Given the description of an element on the screen output the (x, y) to click on. 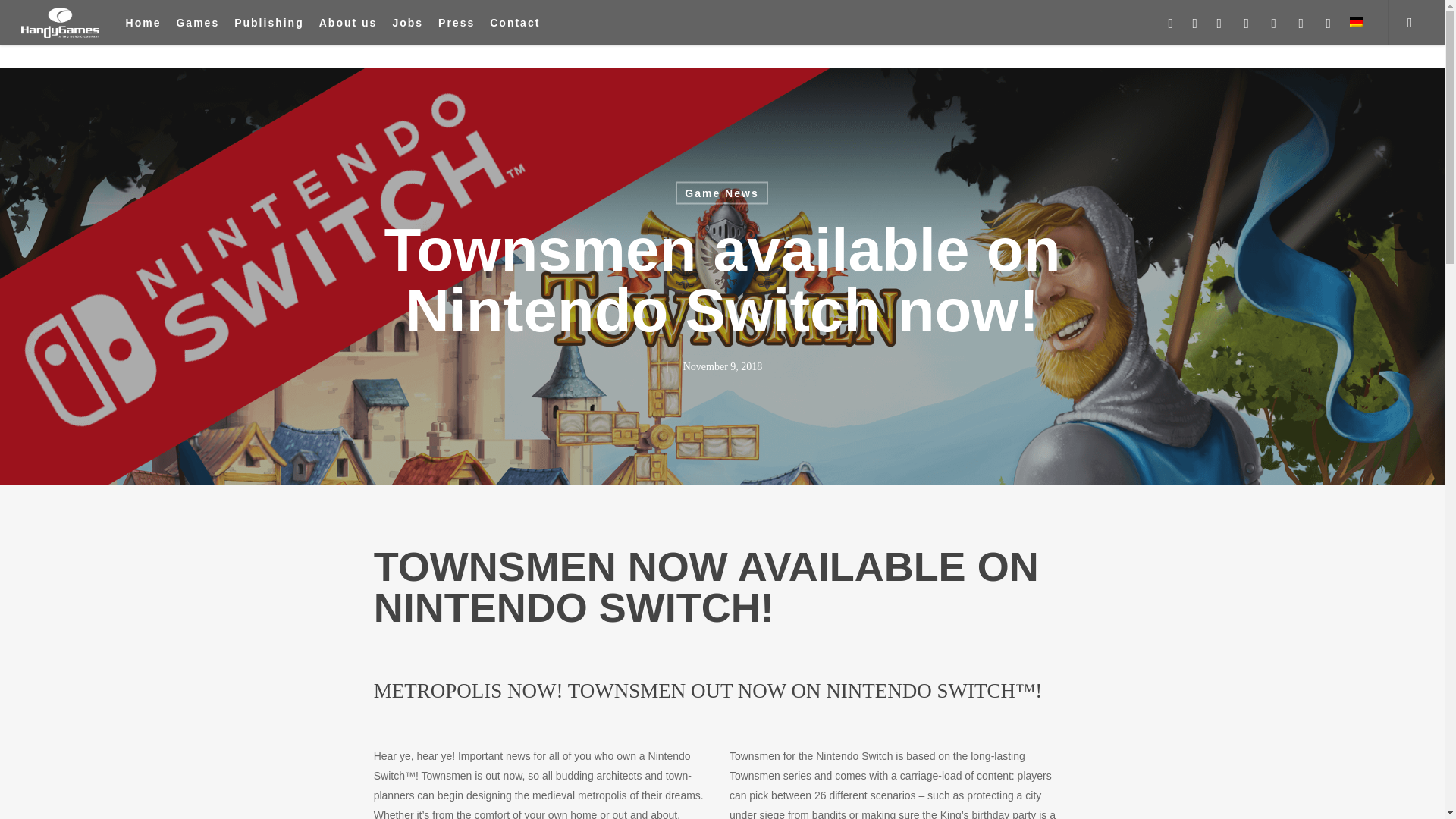
x-twitter (1171, 22)
instagram (1246, 22)
Home (143, 22)
About us (347, 22)
Games (197, 22)
threads (1328, 22)
facebook (1195, 22)
Jobs (407, 22)
search (1415, 22)
Game News (721, 192)
